Given the description of an element on the screen output the (x, y) to click on. 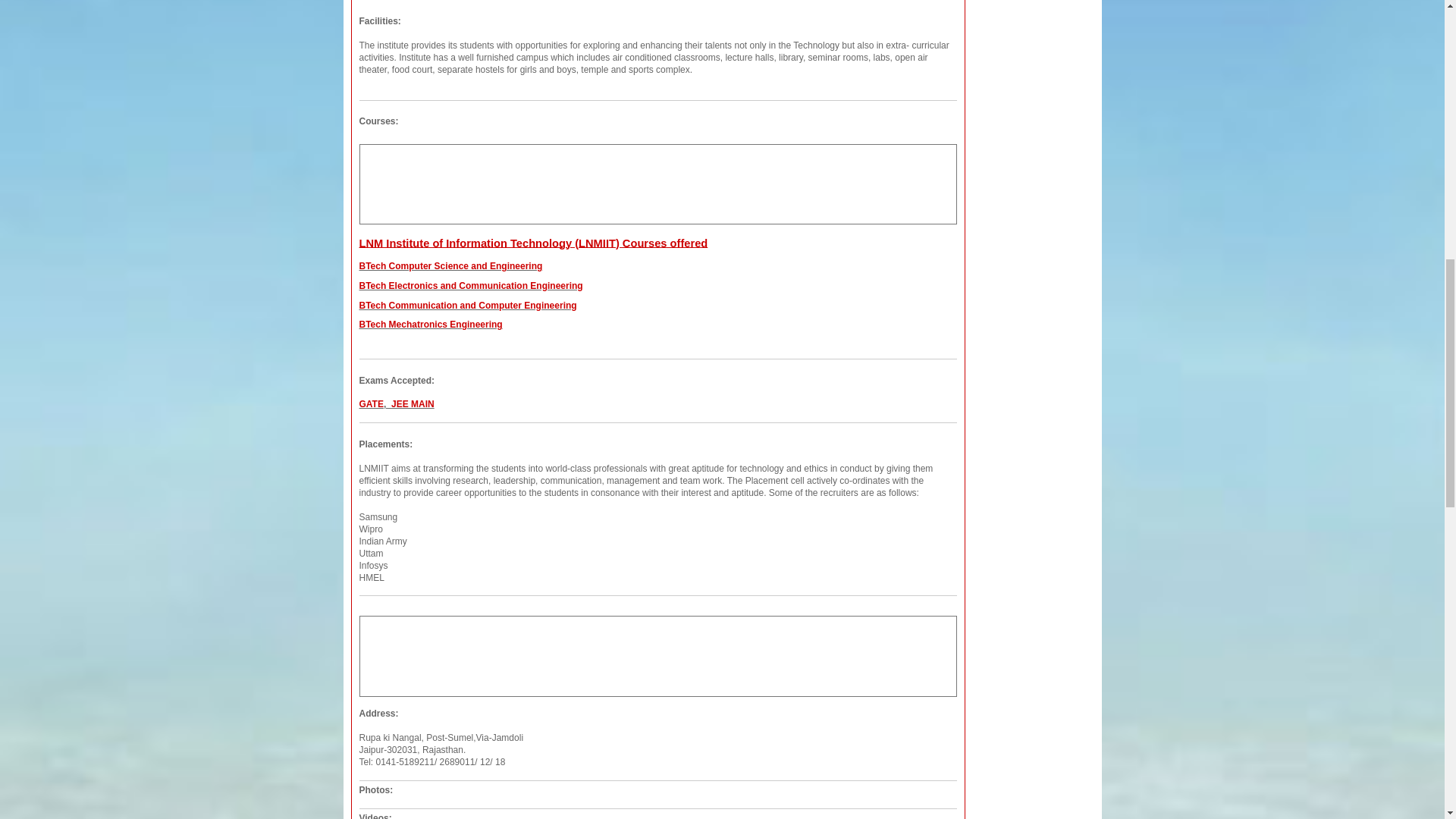
3rd party ad content (657, 182)
BTech Electronics and Communication Engineering (471, 285)
GATE (371, 403)
BTech Computer Science and Engineering (451, 266)
3rd party ad content (657, 654)
JEE MAIN (412, 403)
BTech Mechatronics Engineering (430, 324)
BTech Communication and Computer Engineering (467, 305)
